Given the description of an element on the screen output the (x, y) to click on. 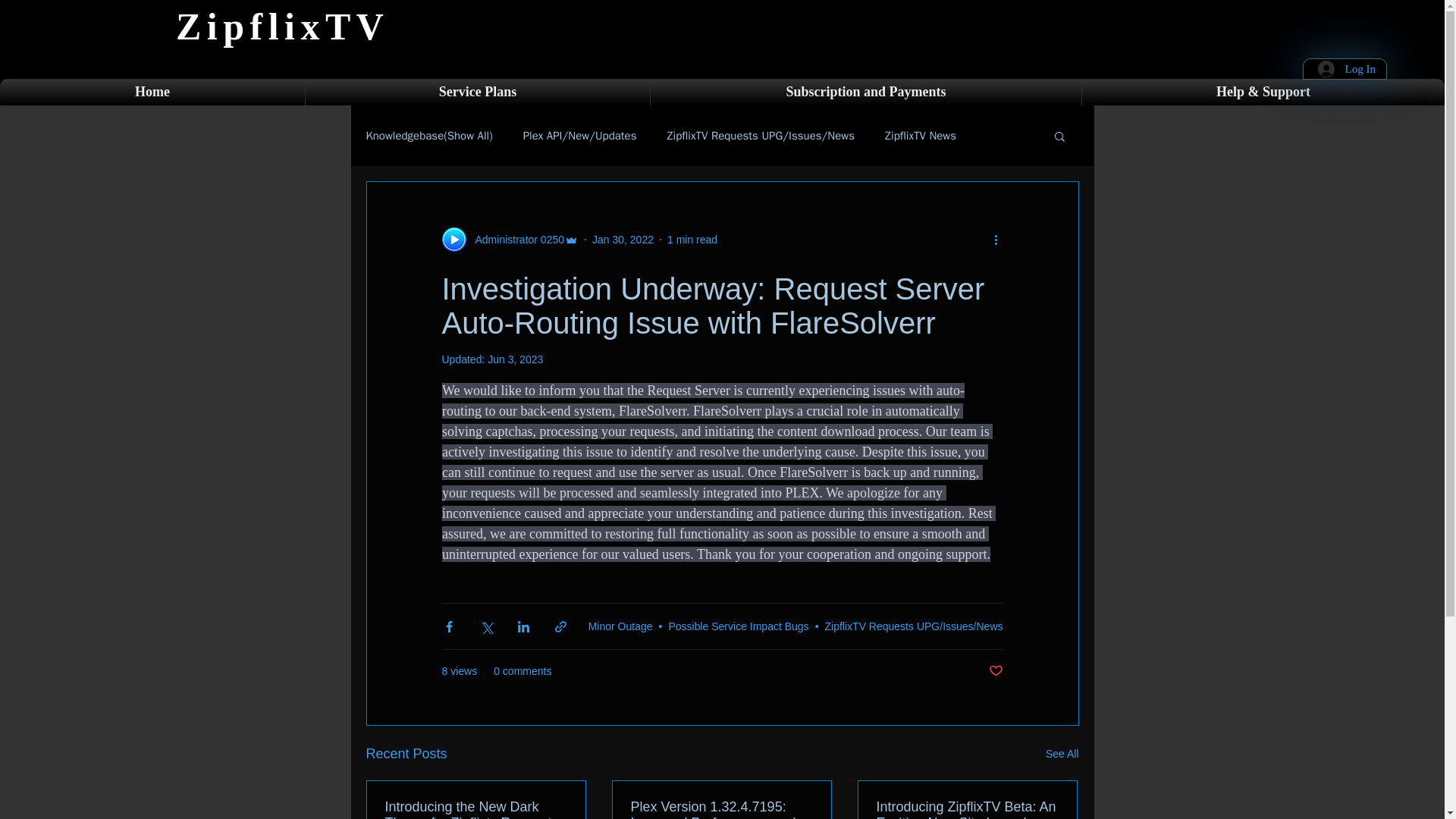
Jun 3, 2023 (515, 358)
Jan 30, 2022 (622, 239)
Home (152, 91)
Log In (1346, 68)
Administrator 0250 (514, 239)
ZipflixTV News (920, 135)
1 min read (691, 239)
Subscription and Payments (865, 91)
